Given the description of an element on the screen output the (x, y) to click on. 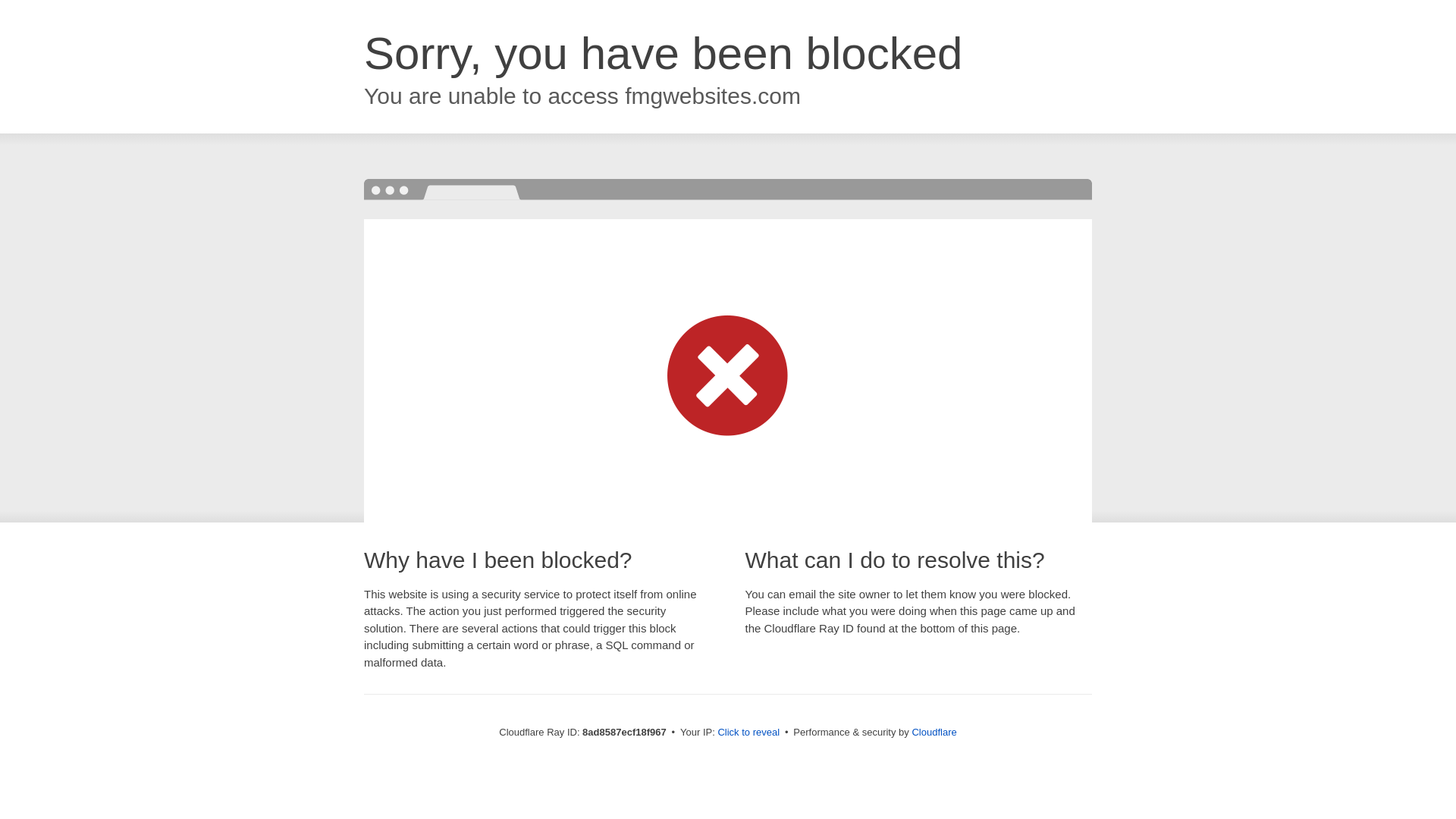
Click to reveal (747, 732)
Cloudflare (933, 731)
